Given the description of an element on the screen output the (x, y) to click on. 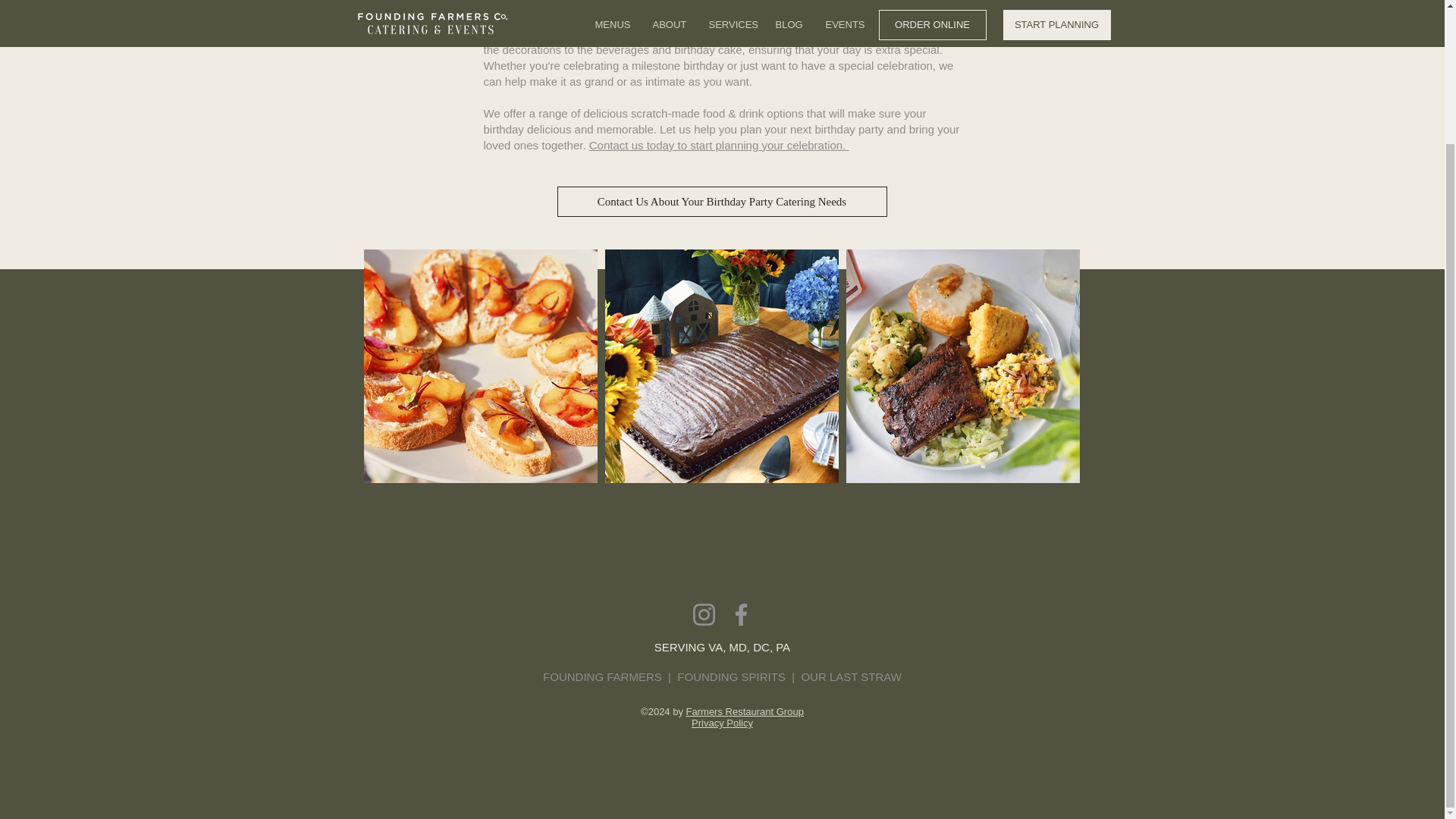
OUR LAST STRAW (850, 676)
MD (737, 646)
Contact Us About Your Birthday Party Catering Needs (721, 201)
PA (783, 646)
Privacy Policy (721, 722)
Contact us today to start planning your celebration.  (718, 144)
Farmers Restaurant Group (744, 711)
DC (761, 646)
FOUNDING FARMERS   (605, 676)
FOUNDING SPIRITS (731, 676)
VA (714, 646)
